Given the description of an element on the screen output the (x, y) to click on. 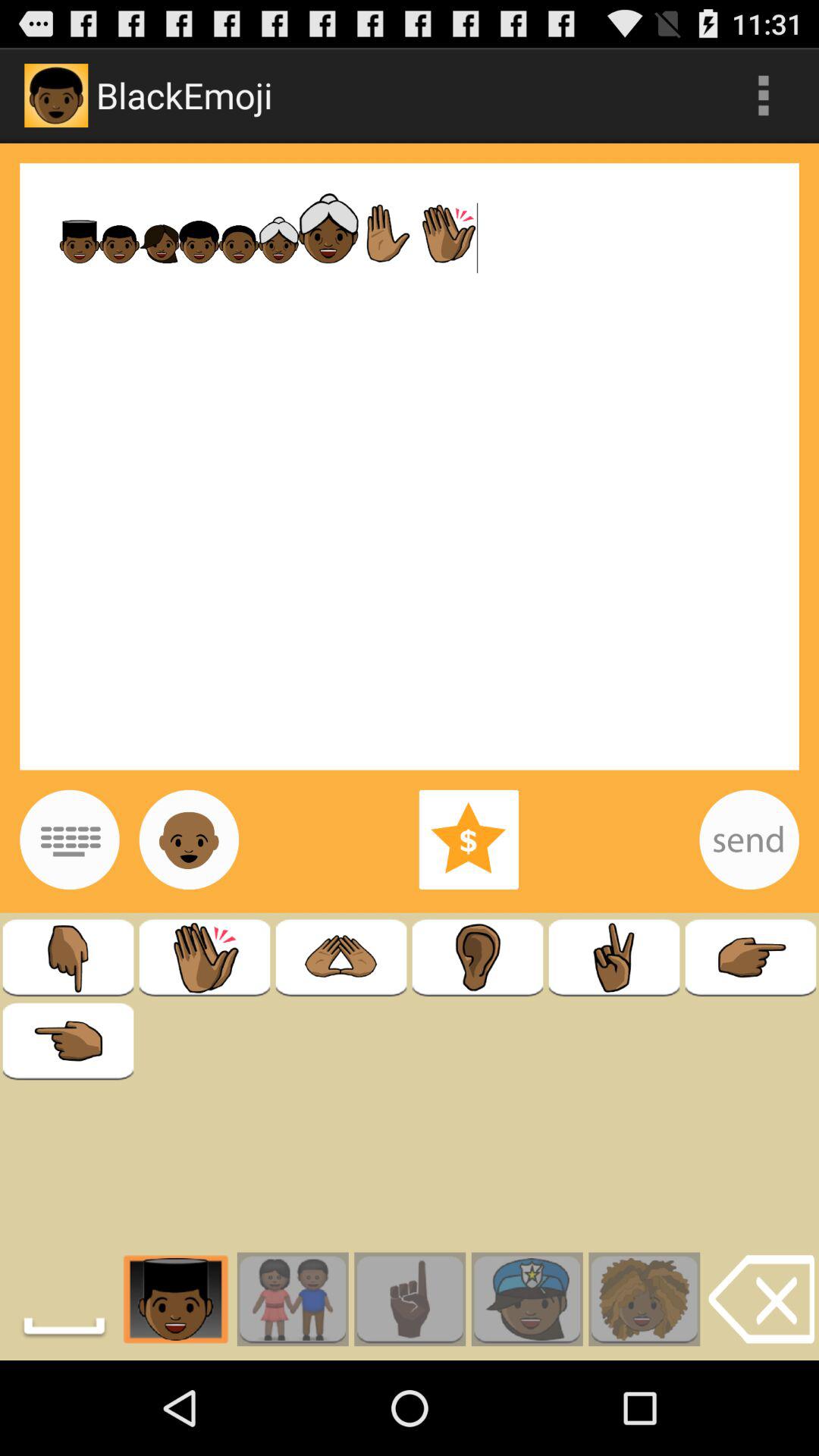
keswiftkey (69, 839)
